Given the description of an element on the screen output the (x, y) to click on. 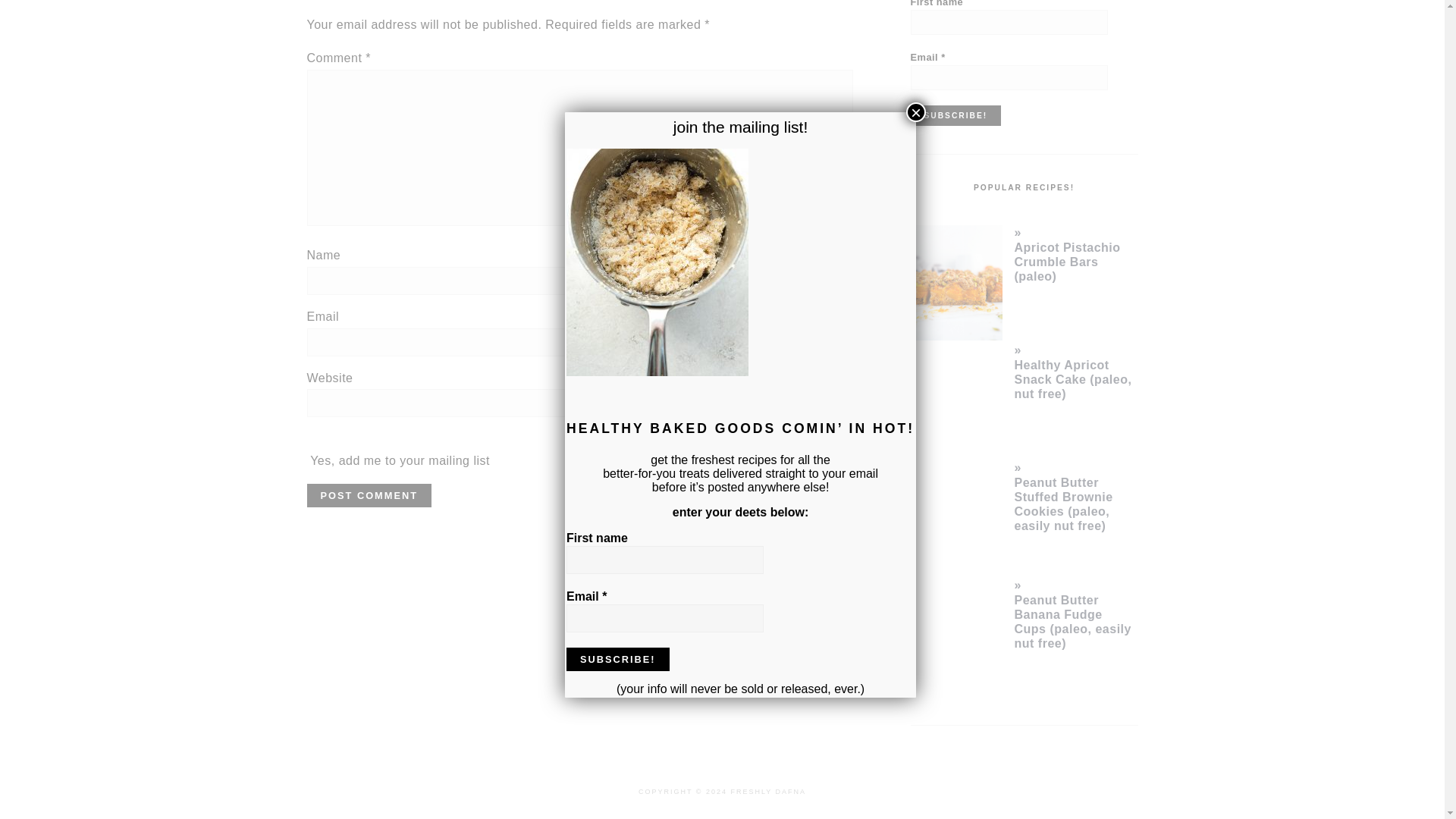
First name (1008, 22)
Subscribe! (955, 115)
Post Comment (367, 495)
